Given the description of an element on the screen output the (x, y) to click on. 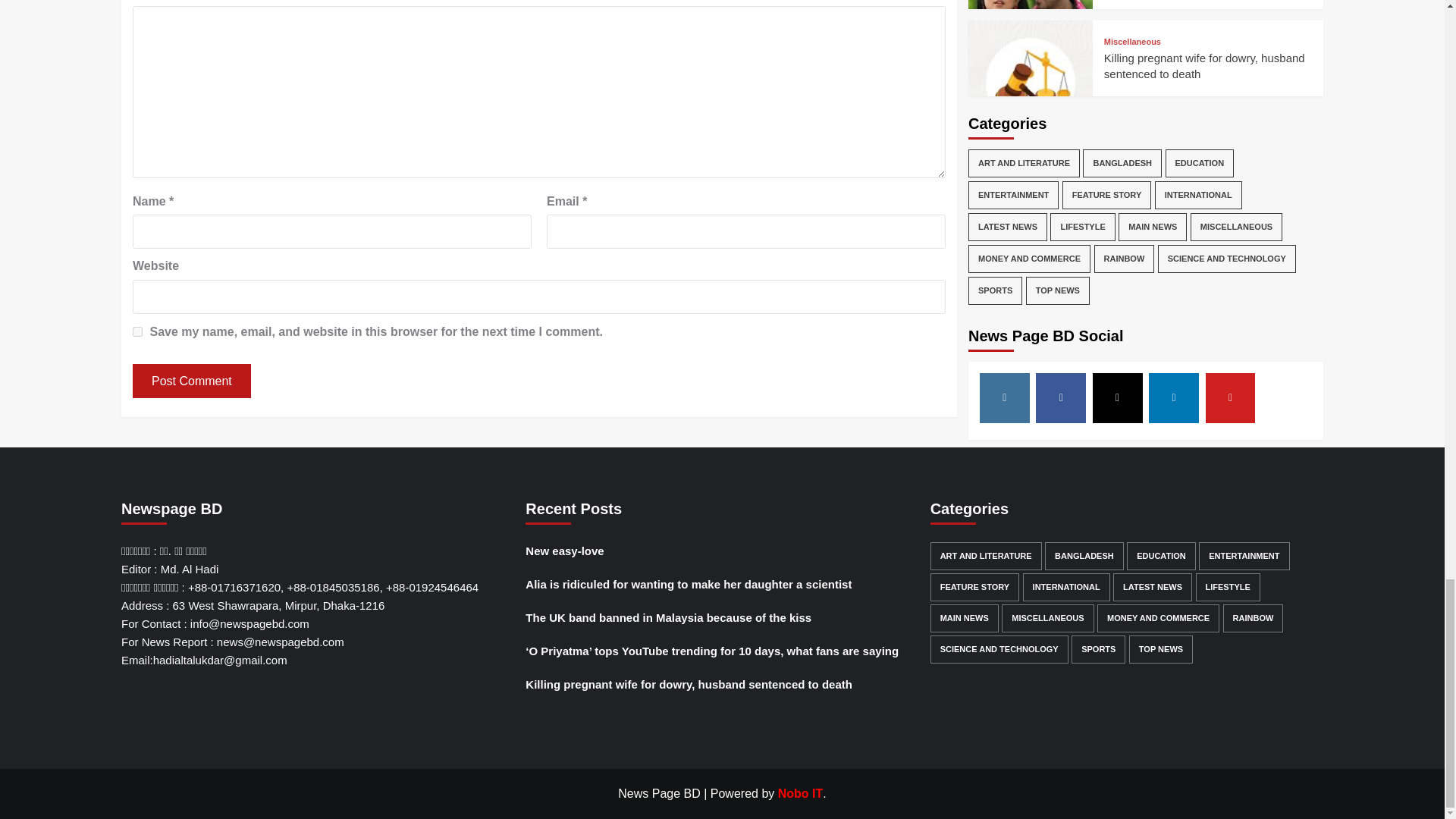
yes (137, 331)
Post Comment (191, 380)
